Given the description of an element on the screen output the (x, y) to click on. 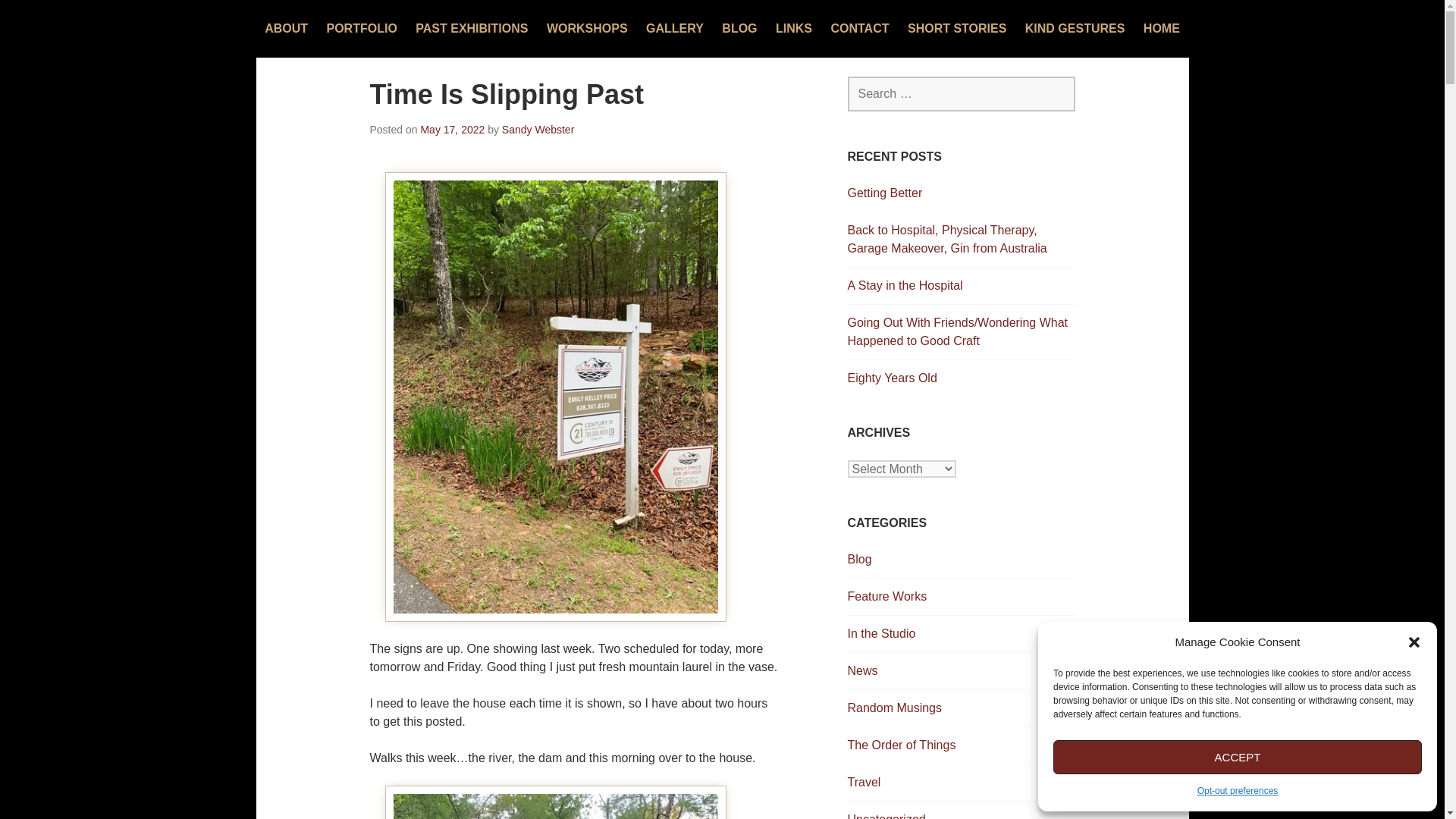
SHORT STORIES (956, 29)
BLOG (739, 29)
May 17, 2022 (452, 129)
HOME (1160, 29)
ACCEPT (1237, 756)
GALLERY (674, 29)
PORTFOLIO (361, 29)
Opt-out preferences (1237, 791)
Sandy Webster (537, 129)
CONTACT (858, 29)
KIND GESTURES (1075, 29)
ABOUT (285, 29)
PAST EXHIBITIONS (470, 29)
WORKSHOPS (587, 29)
LINKS (794, 29)
